Given the description of an element on the screen output the (x, y) to click on. 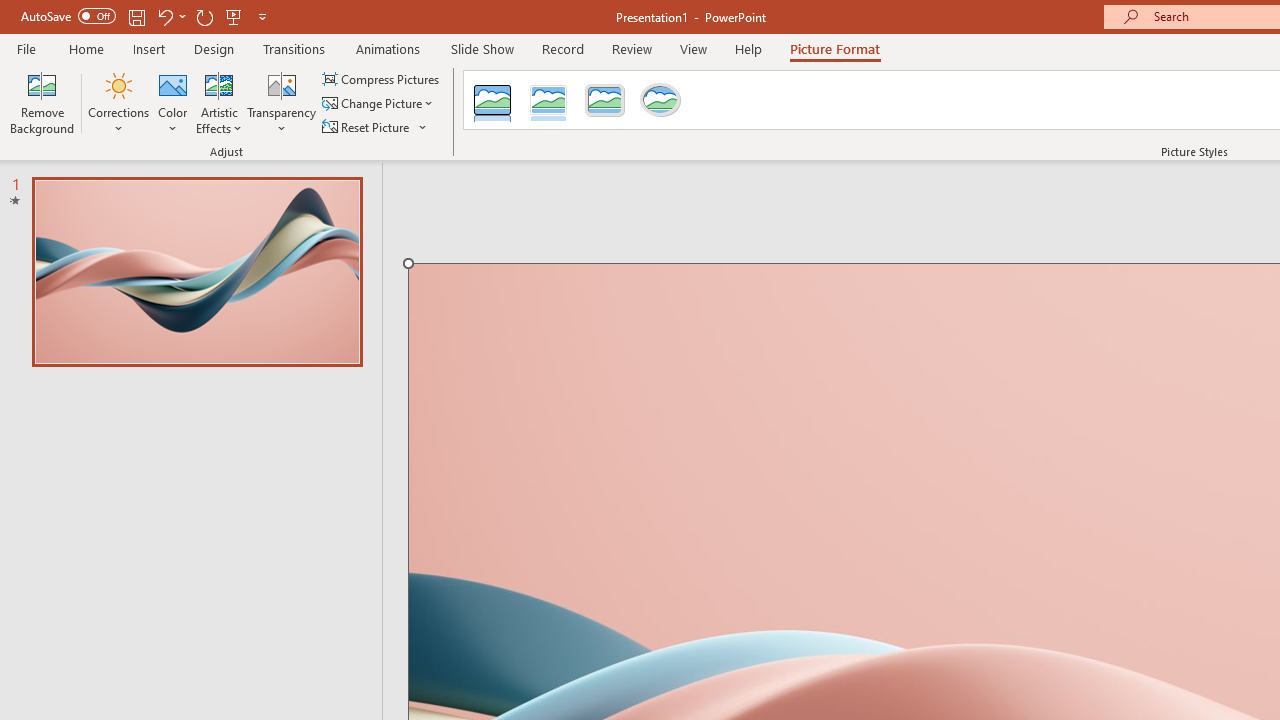
Reset Picture (375, 126)
Metal Rounded Rectangle (605, 100)
